Given the description of an element on the screen output the (x, y) to click on. 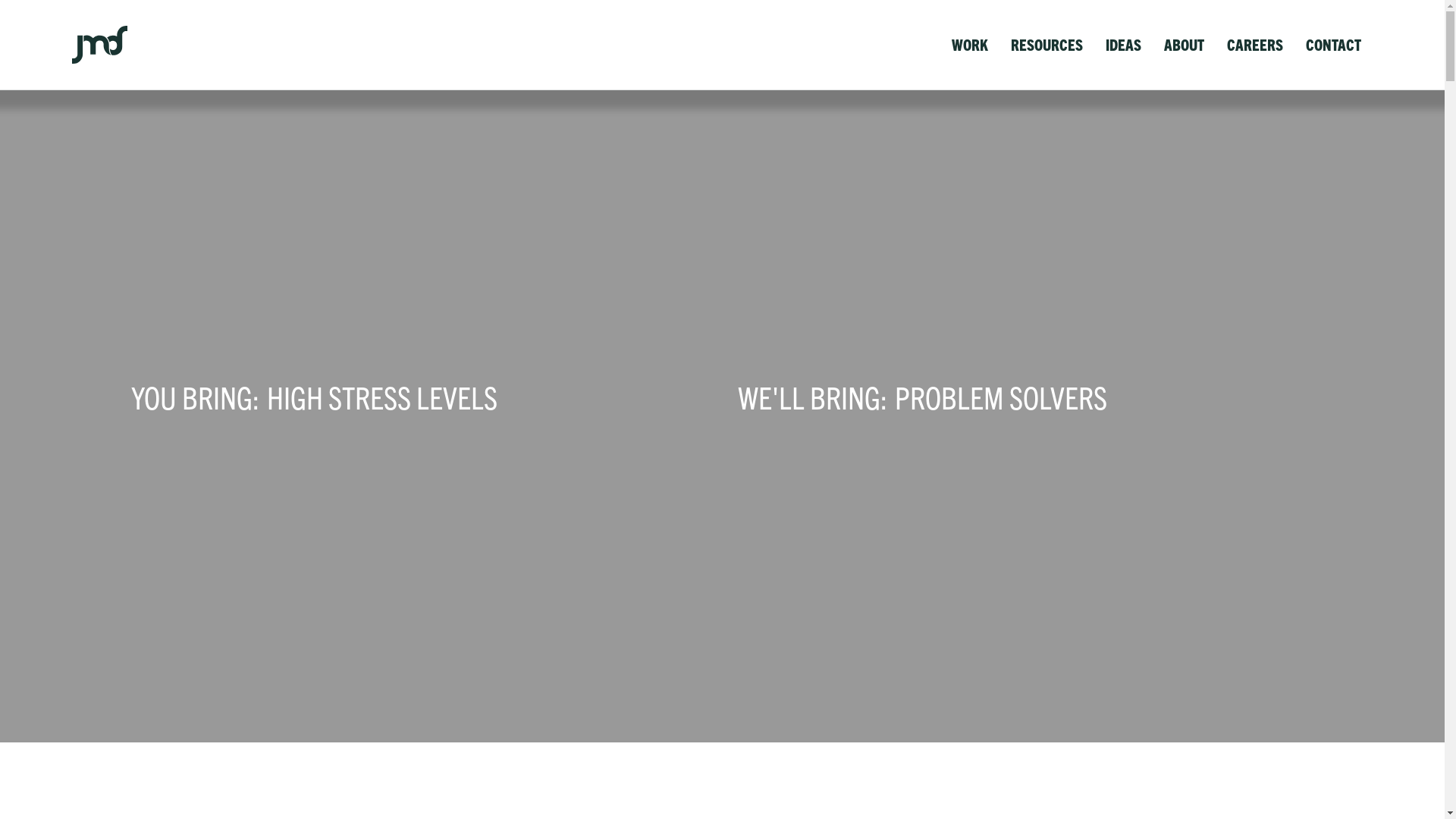
WORK Element type: text (969, 44)
IDEAS Element type: text (1123, 44)
RESOURCES Element type: text (1046, 44)
ABOUT Element type: text (1183, 44)
CONTACT Element type: text (1333, 44)
CAREERS Element type: text (1254, 44)
